Given the description of an element on the screen output the (x, y) to click on. 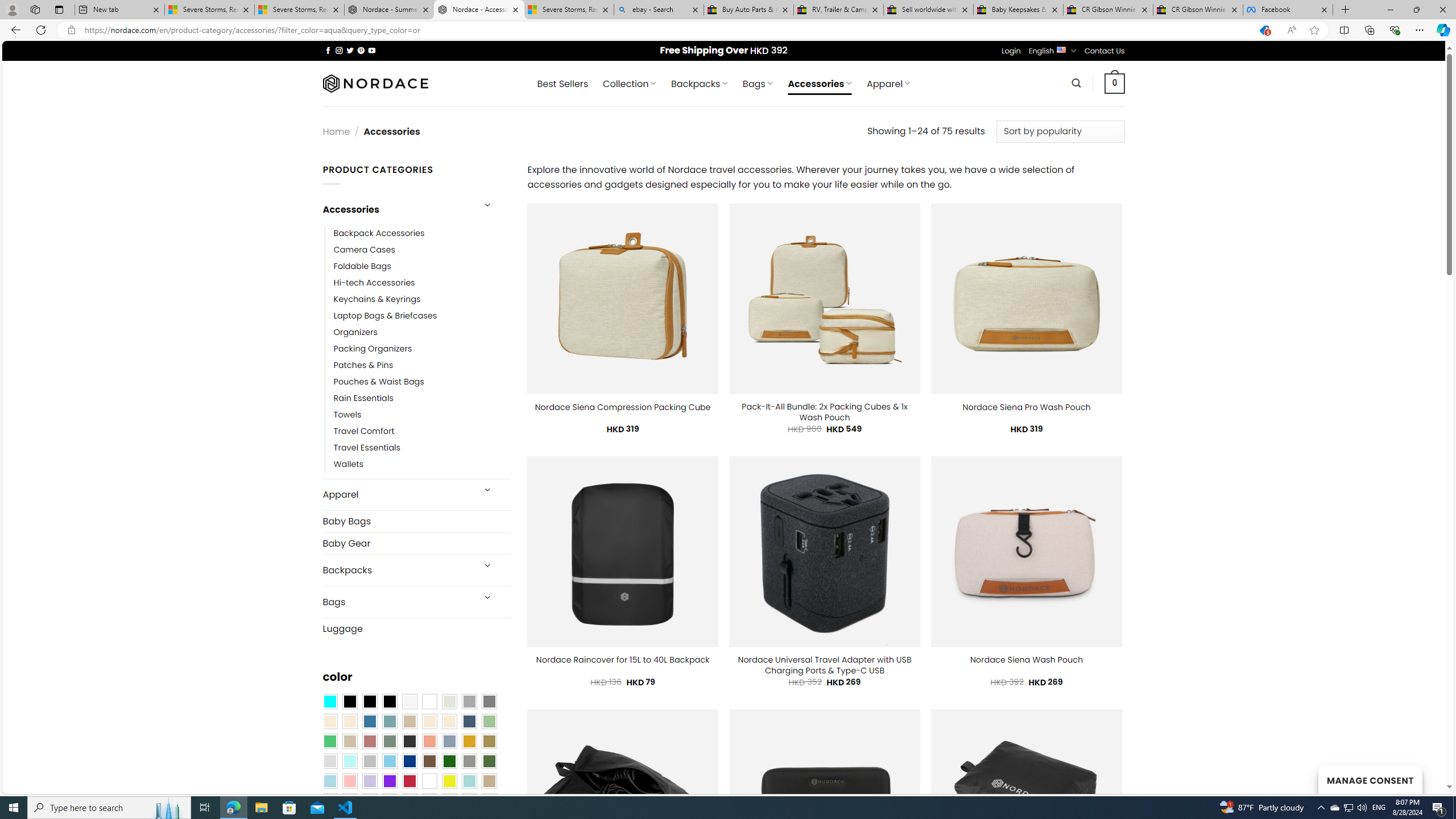
Backpack Accessories (422, 232)
Blue Sage (389, 721)
Organizers (355, 332)
Nordace Siena Wash Pouch (1026, 659)
Light Gray (329, 761)
Mint (349, 761)
All Black (349, 701)
Yellow (449, 780)
Coral (429, 741)
Backpacks (397, 570)
